Given the description of an element on the screen output the (x, y) to click on. 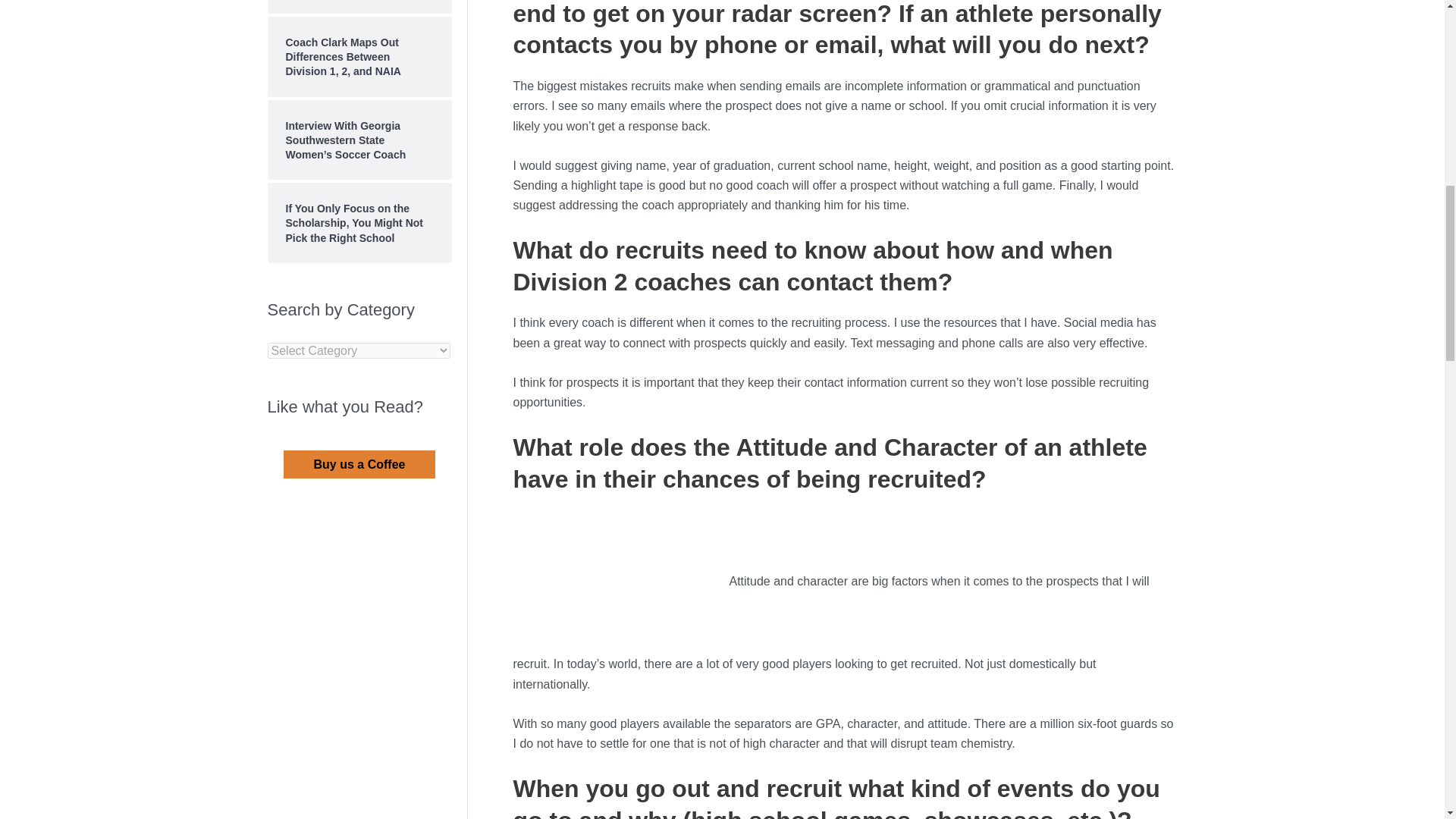
Buy us a Coffee (359, 464)
